Given the description of an element on the screen output the (x, y) to click on. 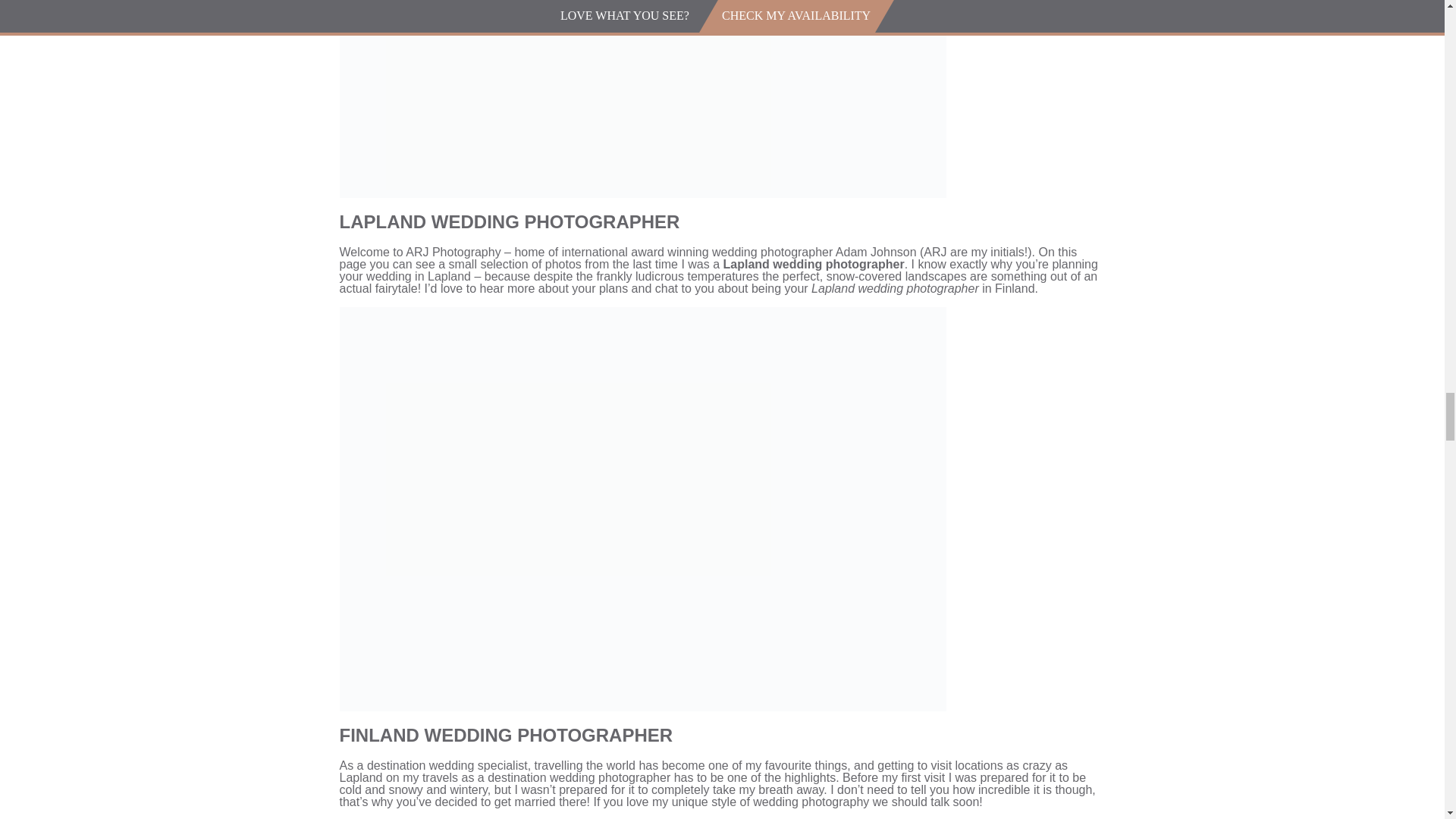
award winning (668, 251)
Adam Johnson (876, 251)
destination wedding specialist (446, 765)
unique style of wedding photography (770, 801)
